Given the description of an element on the screen output the (x, y) to click on. 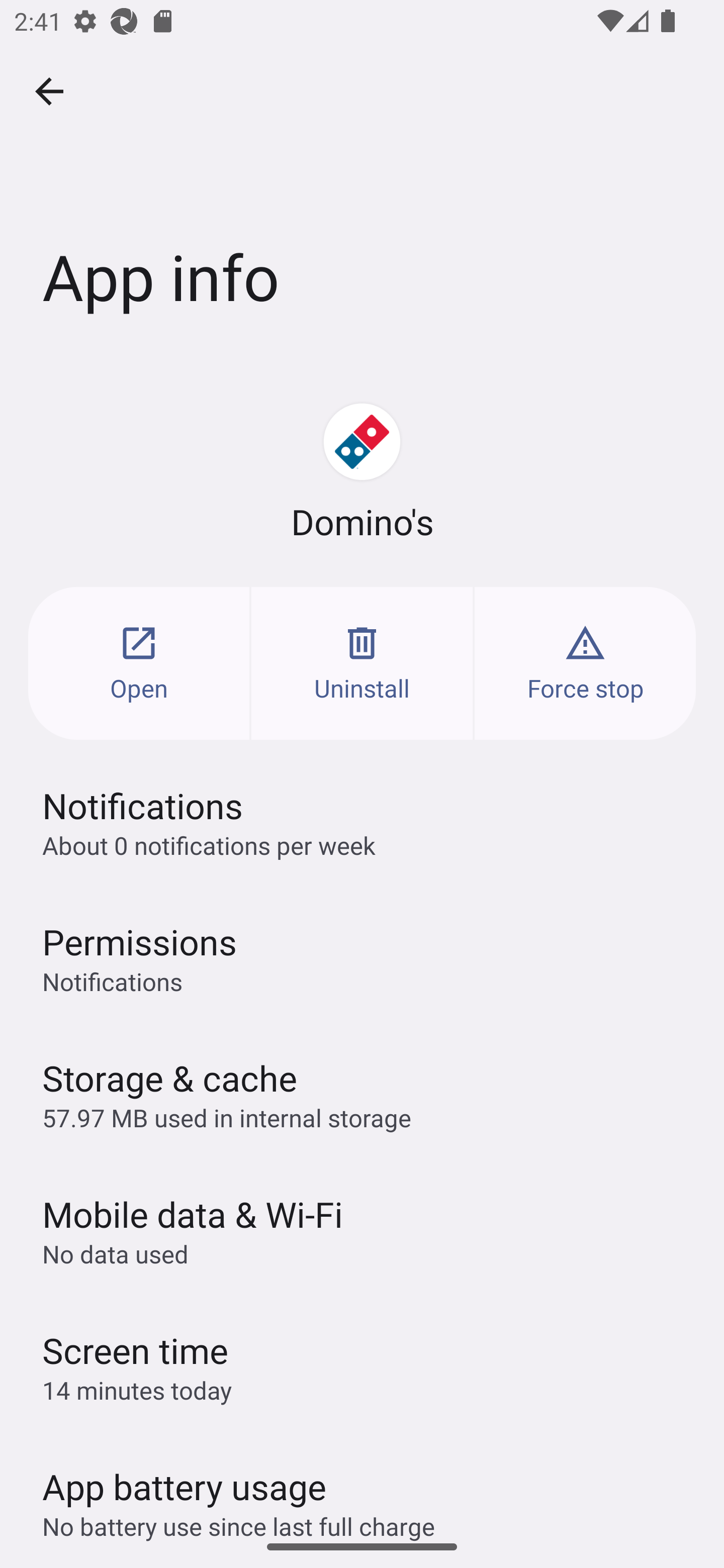
Navigate up (49, 91)
Open (138, 663)
Uninstall (361, 663)
Force stop (584, 663)
Notifications About 0 notifications per week (362, 822)
Permissions Notifications (362, 957)
Storage & cache 57.97 MB used in internal storage (362, 1093)
Mobile data & Wi‑Fi No data used (362, 1229)
Screen time 14 minutes today (362, 1366)
